Given the description of an element on the screen output the (x, y) to click on. 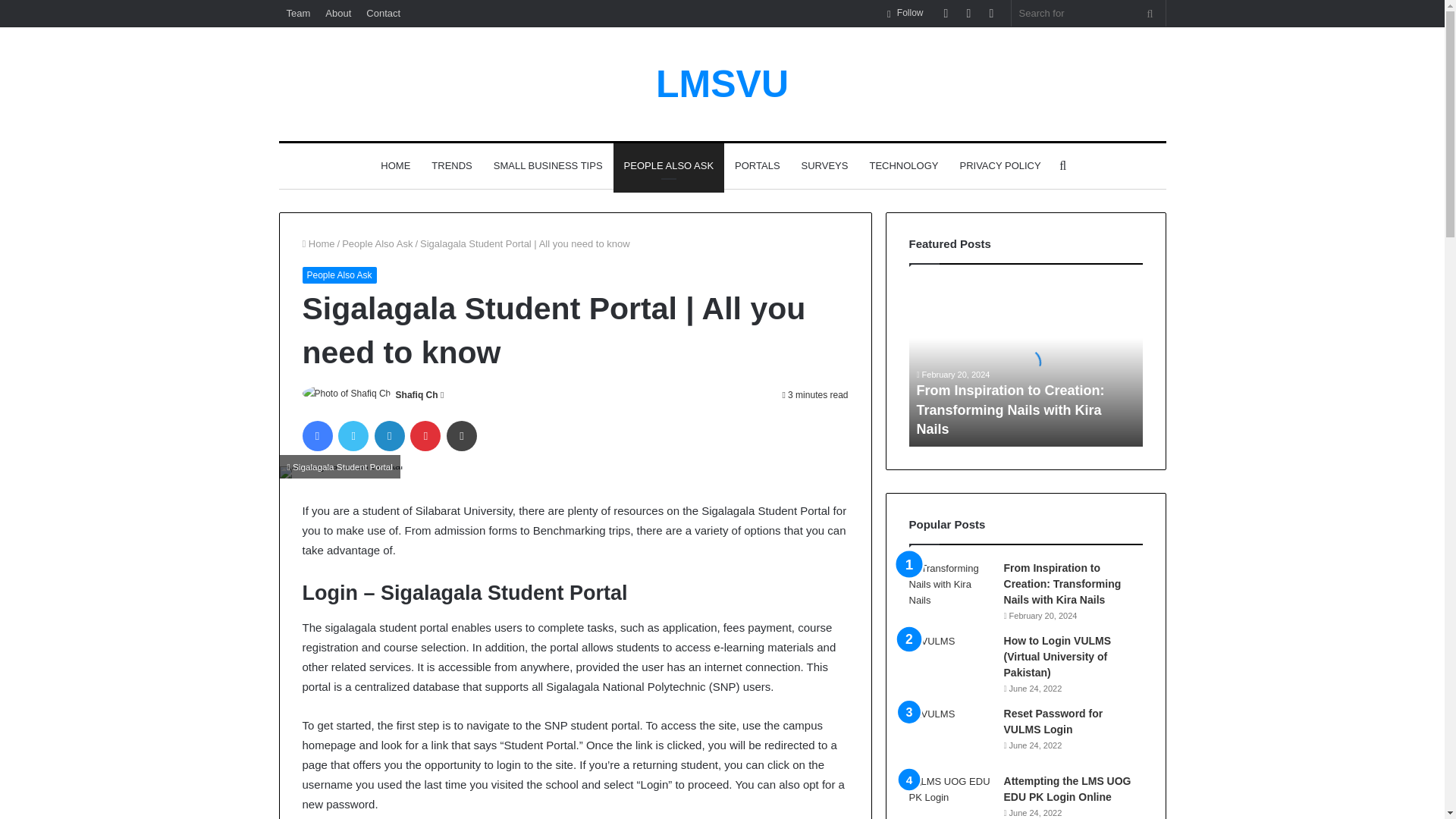
Print (461, 435)
PEOPLE ALSO ASK (668, 166)
Print (461, 435)
People Also Ask (377, 243)
LMSVU (722, 84)
People Also Ask (338, 274)
LinkedIn (389, 435)
Pinterest (425, 435)
SMALL BUSINESS TIPS (547, 166)
Facebook (316, 435)
